Given the description of an element on the screen output the (x, y) to click on. 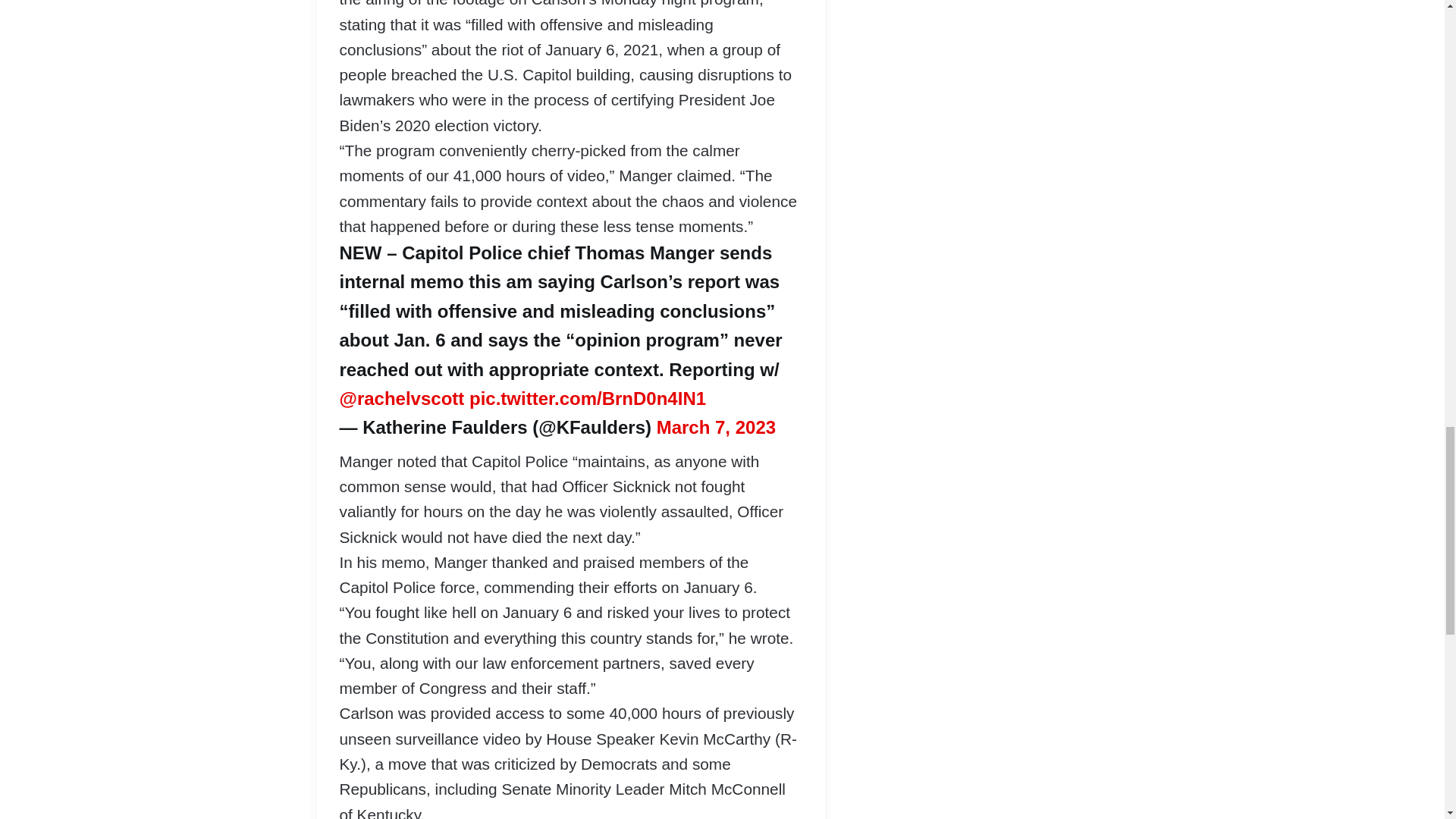
March 7, 2023 (716, 426)
